Given the description of an element on the screen output the (x, y) to click on. 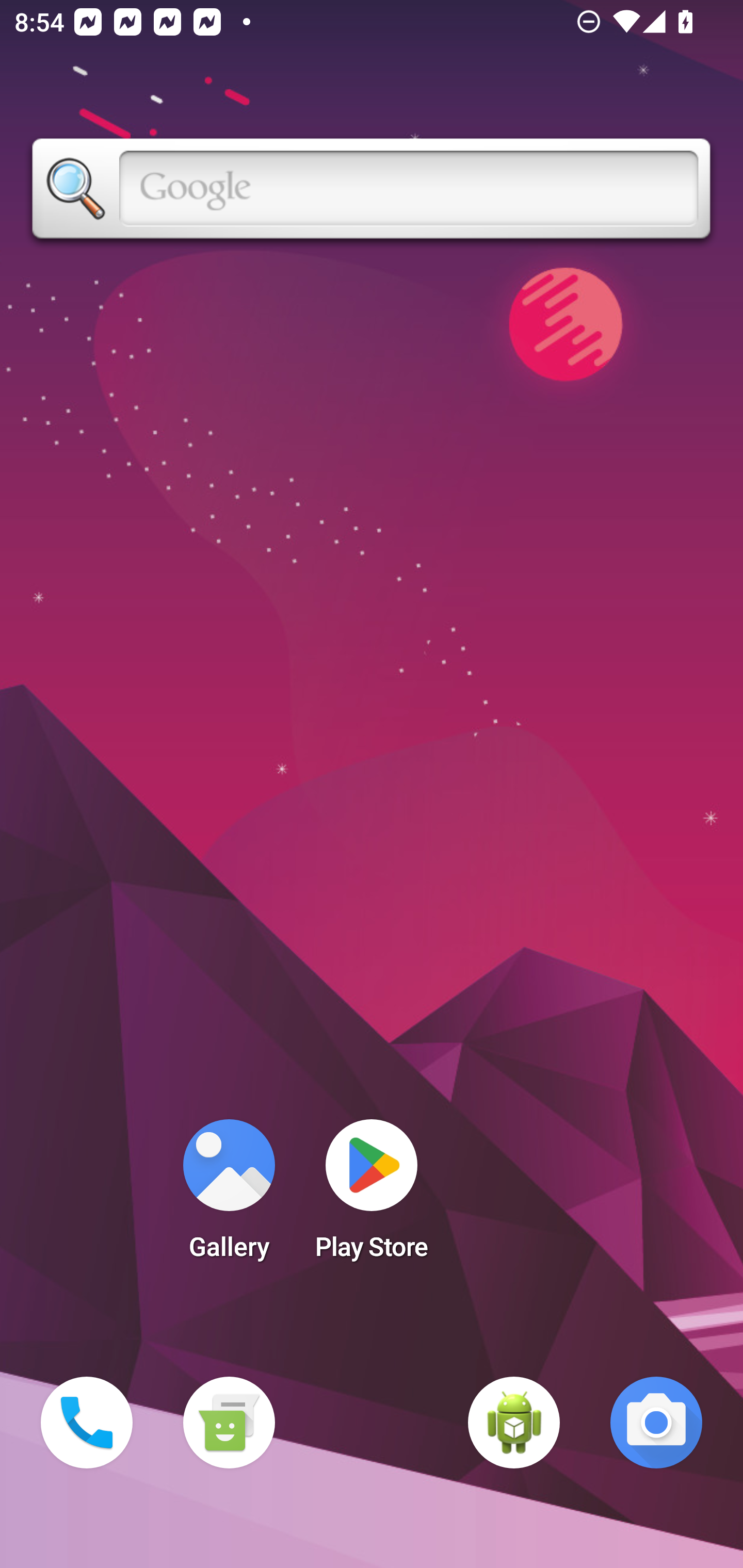
Gallery (228, 1195)
Play Store (371, 1195)
Phone (86, 1422)
Messaging (228, 1422)
WebView Browser Tester (513, 1422)
Camera (656, 1422)
